Given the description of an element on the screen output the (x, y) to click on. 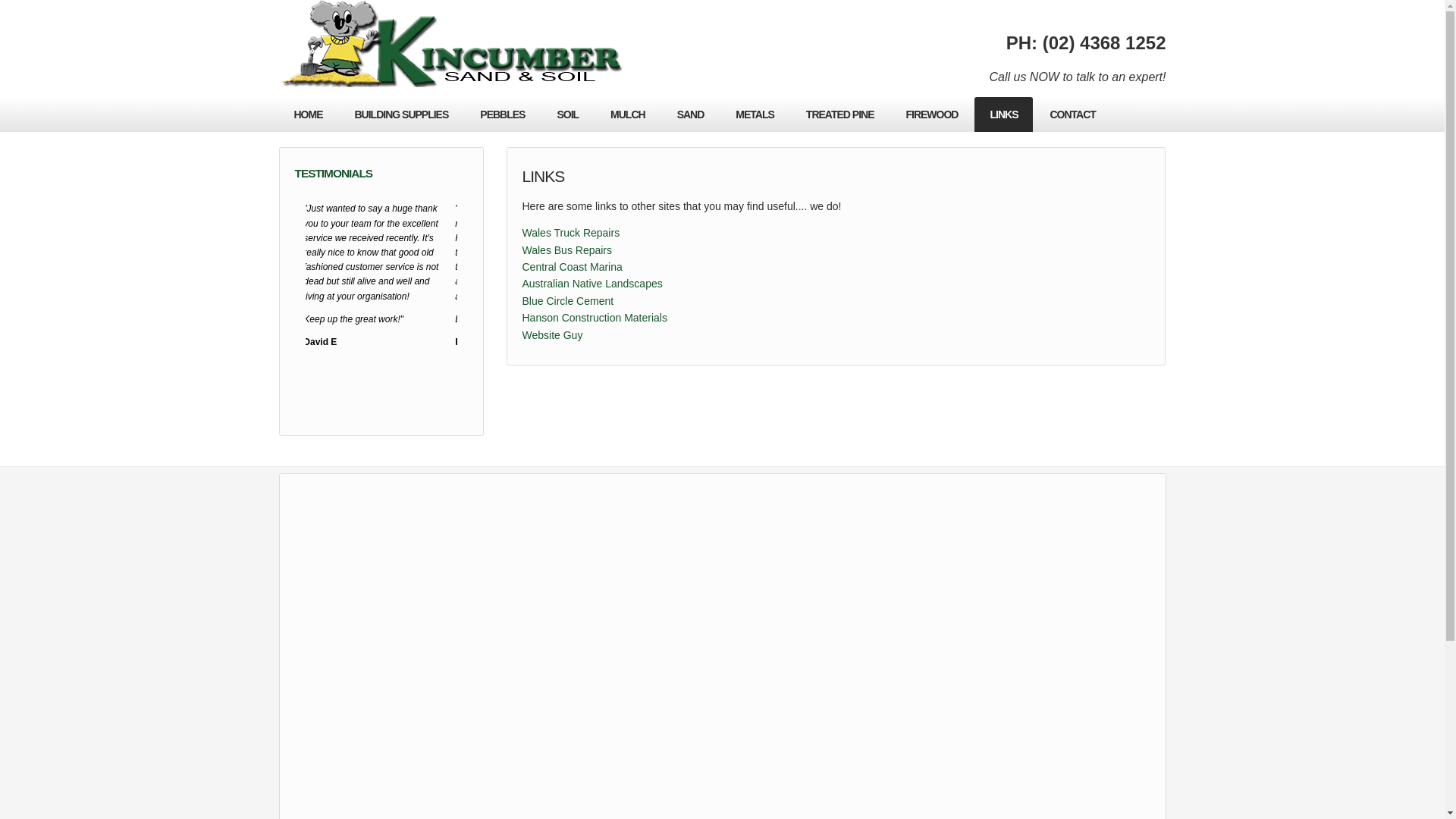
Wales Truck Repairs Element type: text (570, 232)
Hanson Construction Materials Element type: text (593, 317)
CONTACT Element type: text (1072, 114)
Wales Bus Repairs Element type: text (566, 250)
PEBBLES Element type: text (501, 114)
Australian Native Landscapes Element type: text (591, 283)
LINKS Element type: text (1003, 114)
FIREWOOD Element type: text (931, 114)
Central Coast Marina Element type: text (571, 266)
BUILDING SUPPLIES Element type: text (401, 114)
TREATED PINE Element type: text (839, 114)
     Element type: text (434, 307)
SOIL Element type: text (567, 114)
METALS Element type: text (754, 114)
SAND Element type: text (690, 114)
MULCH Element type: text (627, 114)
     Element type: text (326, 307)
Website Guy Element type: text (551, 335)
HOME Element type: text (308, 114)
Blue Circle Cement Element type: text (567, 300)
